Given the description of an element on the screen output the (x, y) to click on. 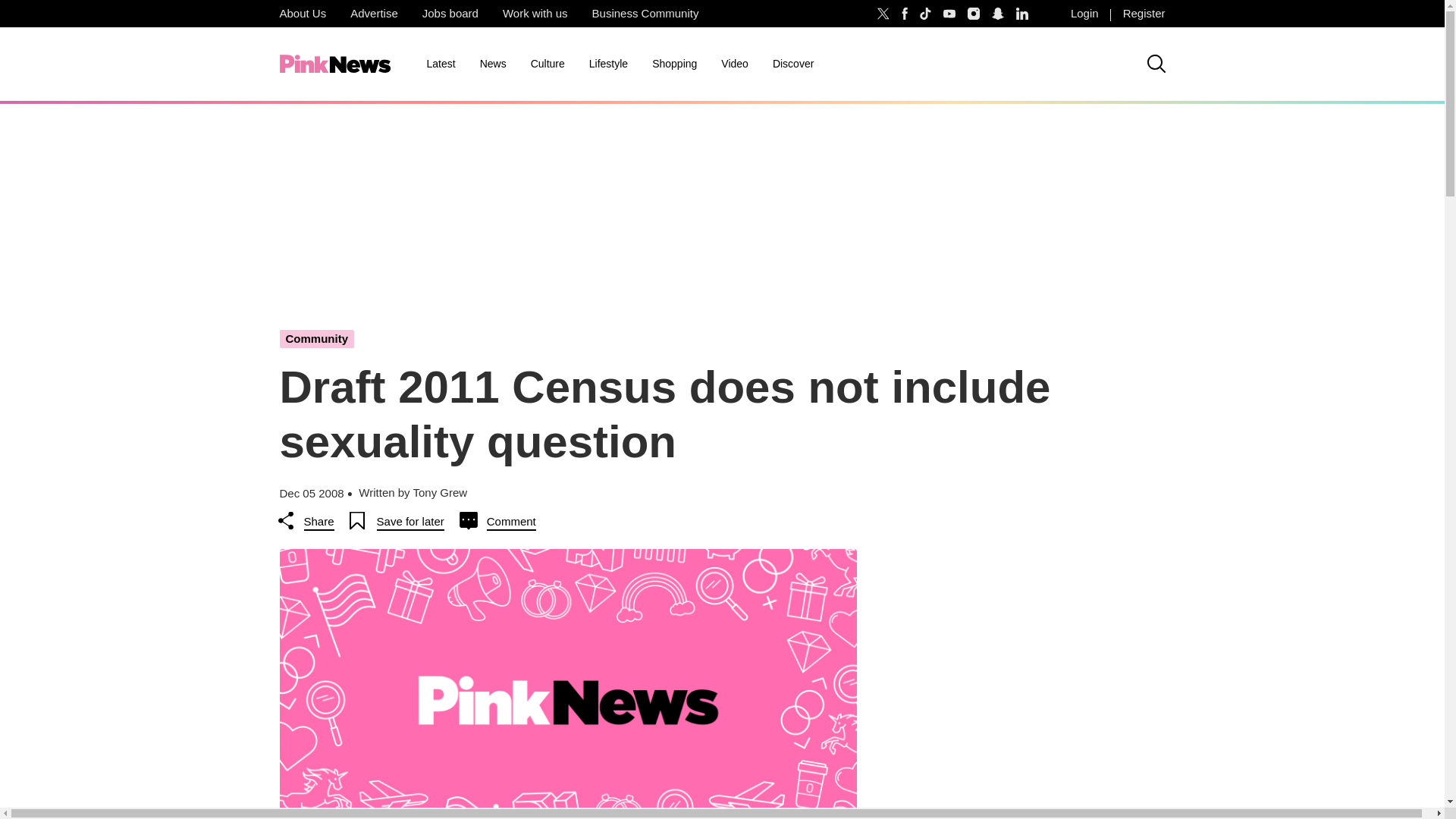
News (493, 63)
Login (1084, 13)
Business Community (645, 13)
Jobs board (450, 13)
Advertise (373, 13)
Culture (547, 63)
About Us (301, 13)
Register (1143, 13)
Lifestyle (608, 63)
Latest (440, 63)
Work with us (534, 13)
Follow PinkNews on LinkedIn (1021, 13)
